Given the description of an element on the screen output the (x, y) to click on. 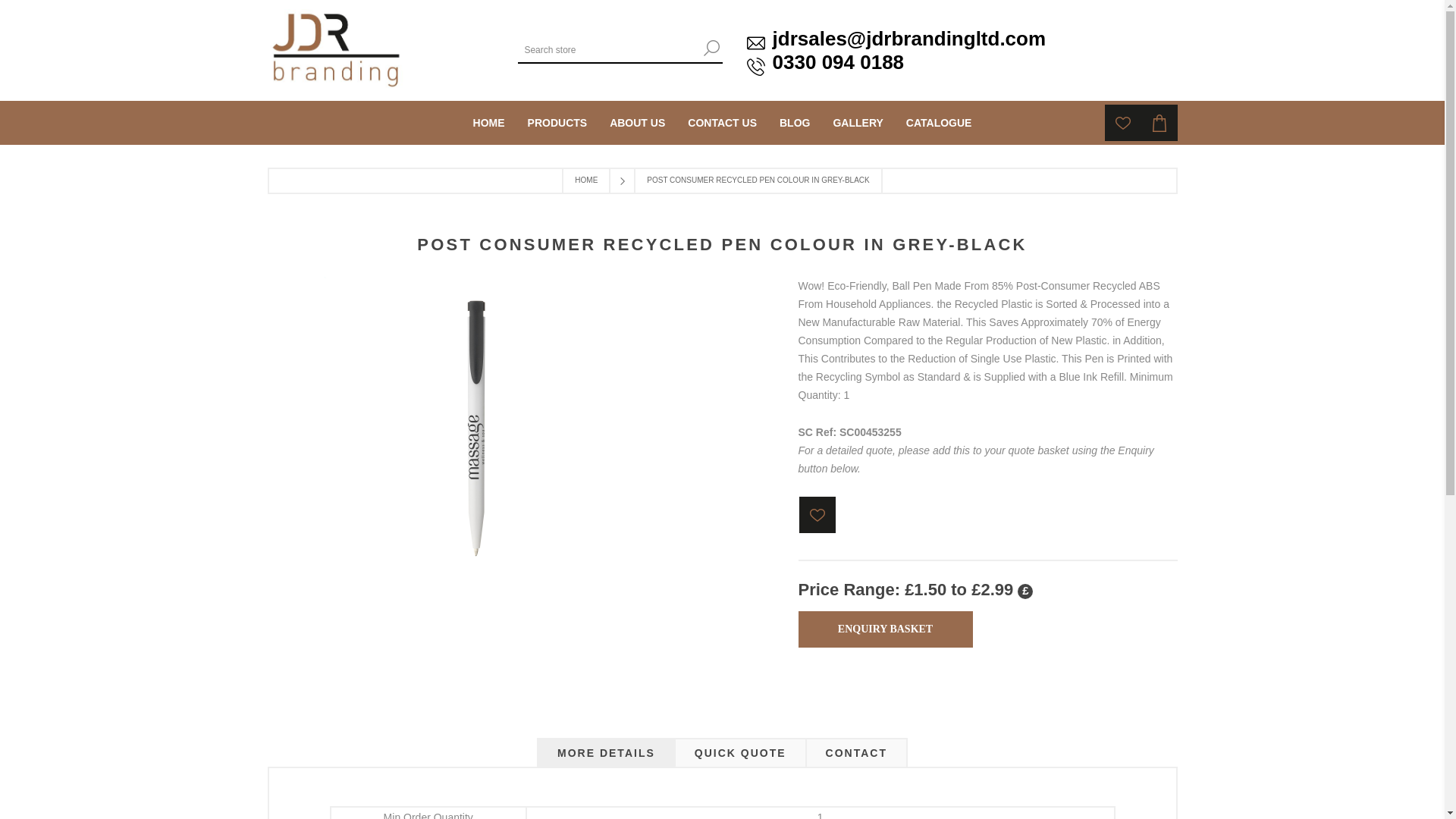
Home (488, 122)
Catalogue (939, 122)
Blog (794, 122)
Picture of POST CONSUMER RECYCLED PEN COLOUR in Grey-Black (475, 576)
CONTACT (856, 752)
Search (711, 47)
Contact Us (722, 122)
0330 094 0188 (838, 61)
ABOUT US (637, 122)
About us (637, 122)
Add to Ideas List (817, 514)
Enquiry Basket (884, 628)
BLOG (794, 122)
HOME (488, 122)
QUICK QUOTE (740, 752)
